Given the description of an element on the screen output the (x, y) to click on. 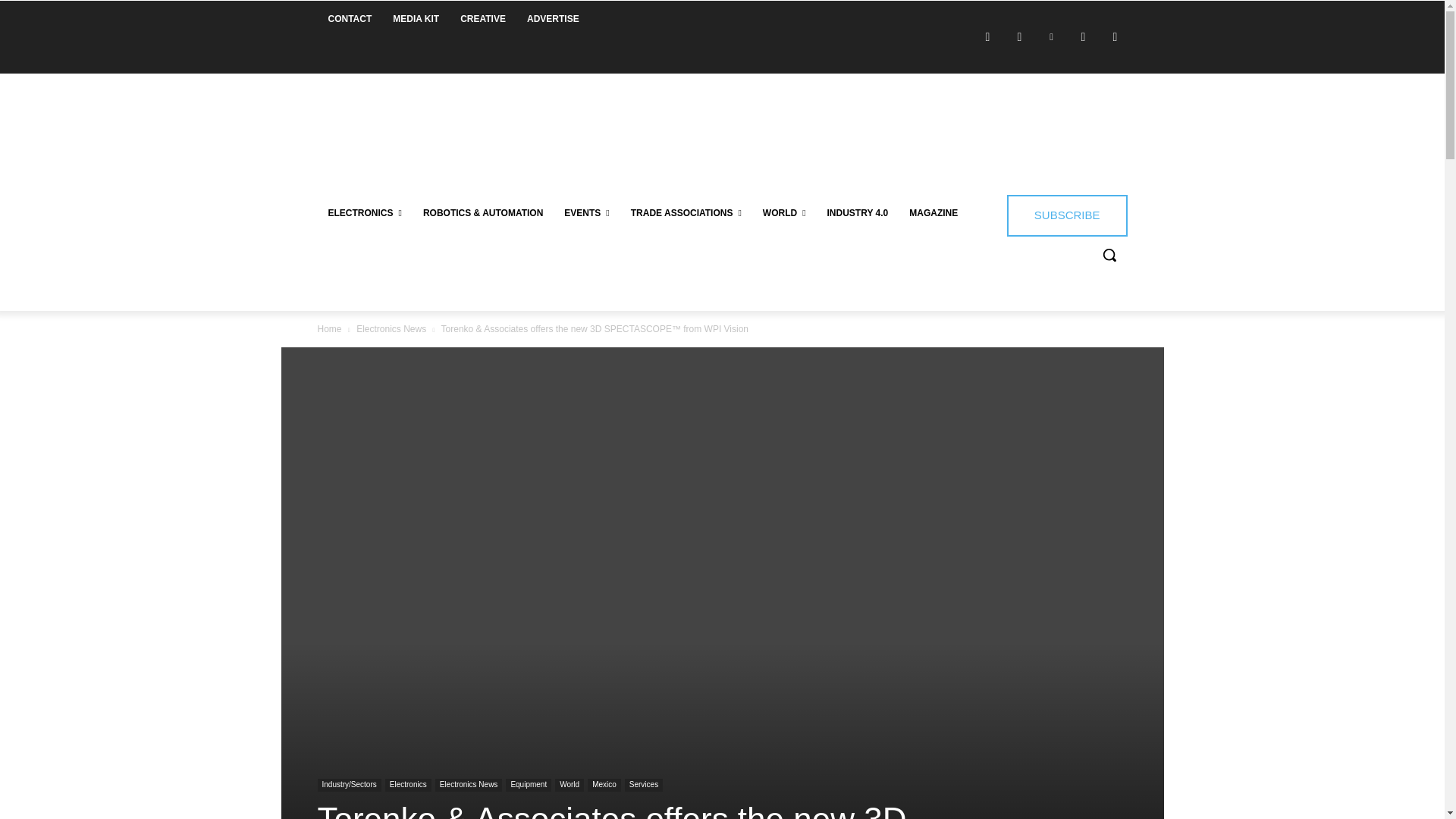
SMT Today  Electronics Beyond Content (425, 123)
CONTACT (349, 18)
Instagram (1018, 37)
Youtube (1114, 37)
SUBSCRIBE (1066, 215)
MEDIA KIT (415, 18)
CREATIVE (482, 18)
Facebook (986, 37)
Linkedin (1050, 37)
Twitter (1082, 37)
